Given the description of an element on the screen output the (x, y) to click on. 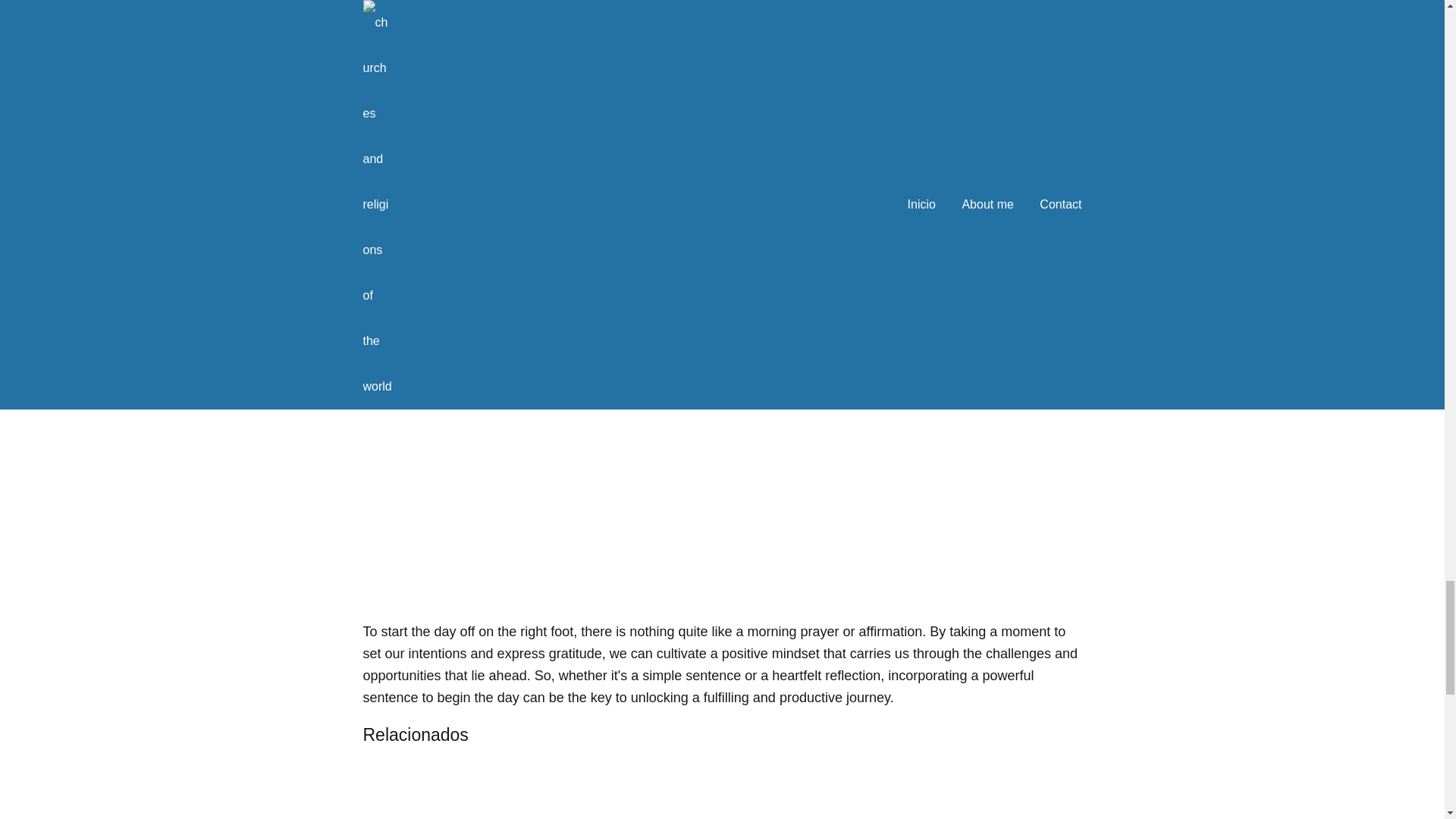
A Healing Prayer for the Health of the Ill (790, 786)
The Biblical Meaning of Thanksgiving (668, 786)
Thank You, Sir, for This Ending Year (423, 786)
